Given the description of an element on the screen output the (x, y) to click on. 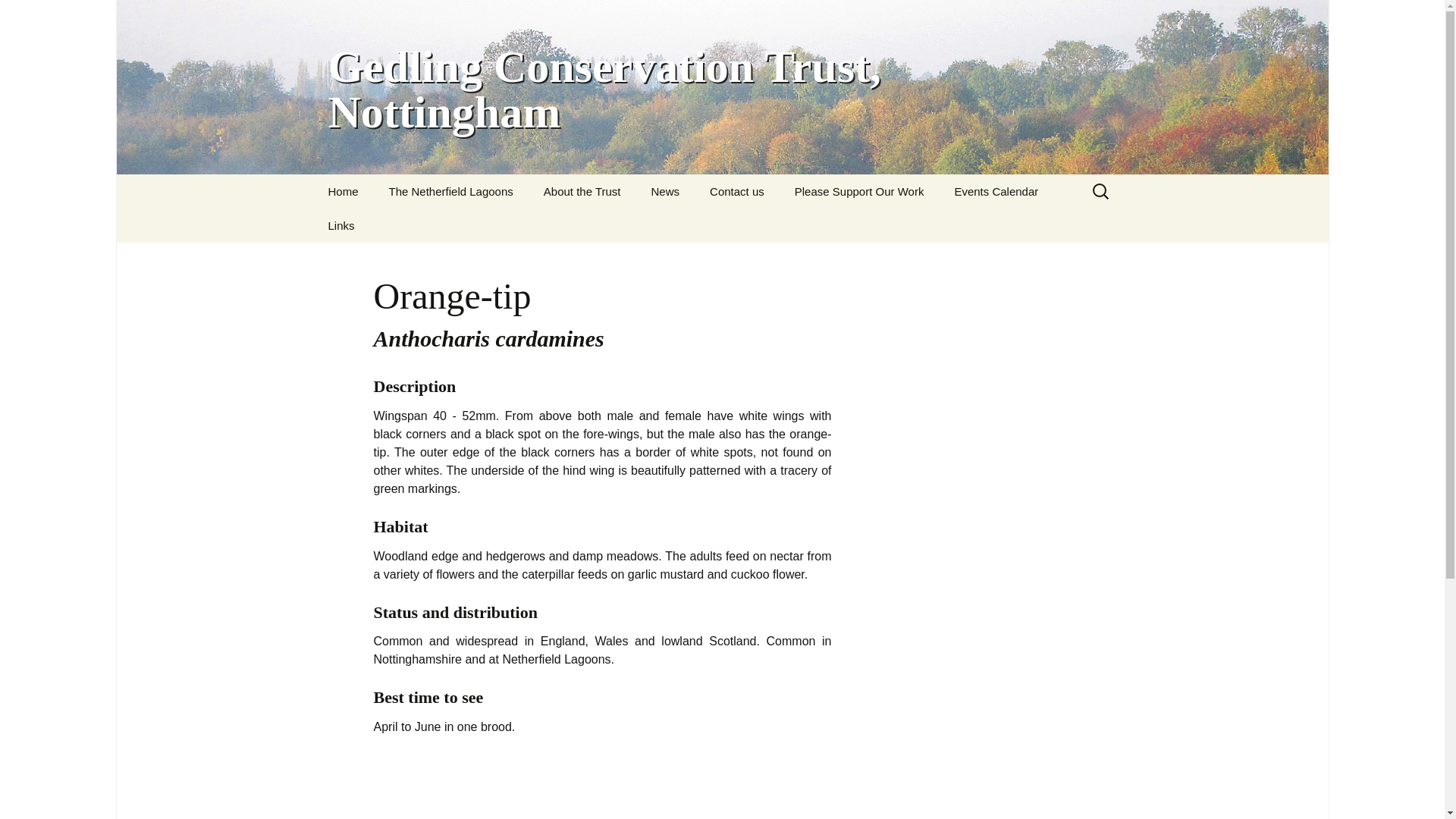
Getting to the Lagoons (449, 225)
Home (342, 191)
The Netherfield Lagoons (451, 191)
